Given the description of an element on the screen output the (x, y) to click on. 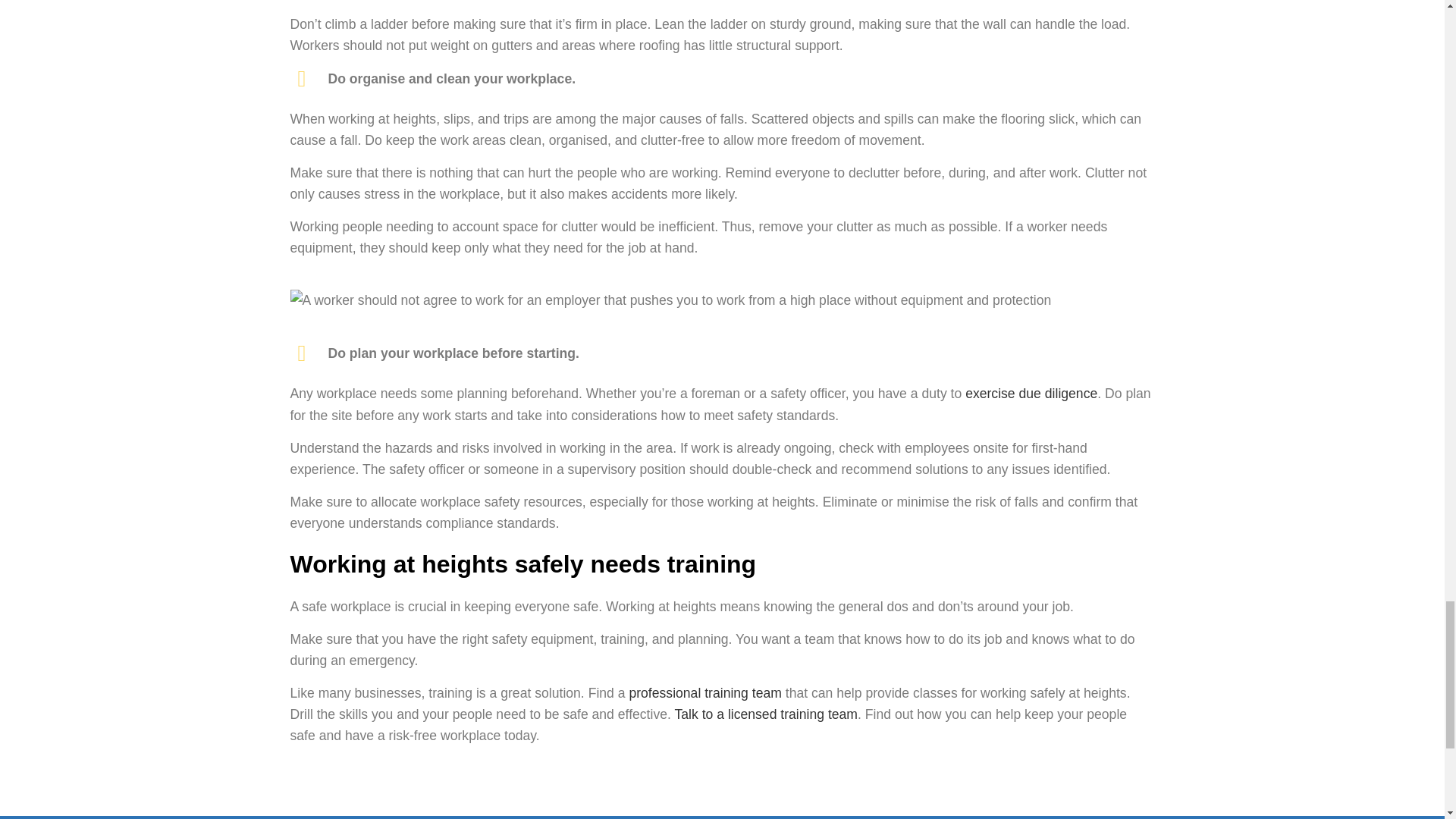
Working at height - CS Transport Training (670, 300)
